Given the description of an element on the screen output the (x, y) to click on. 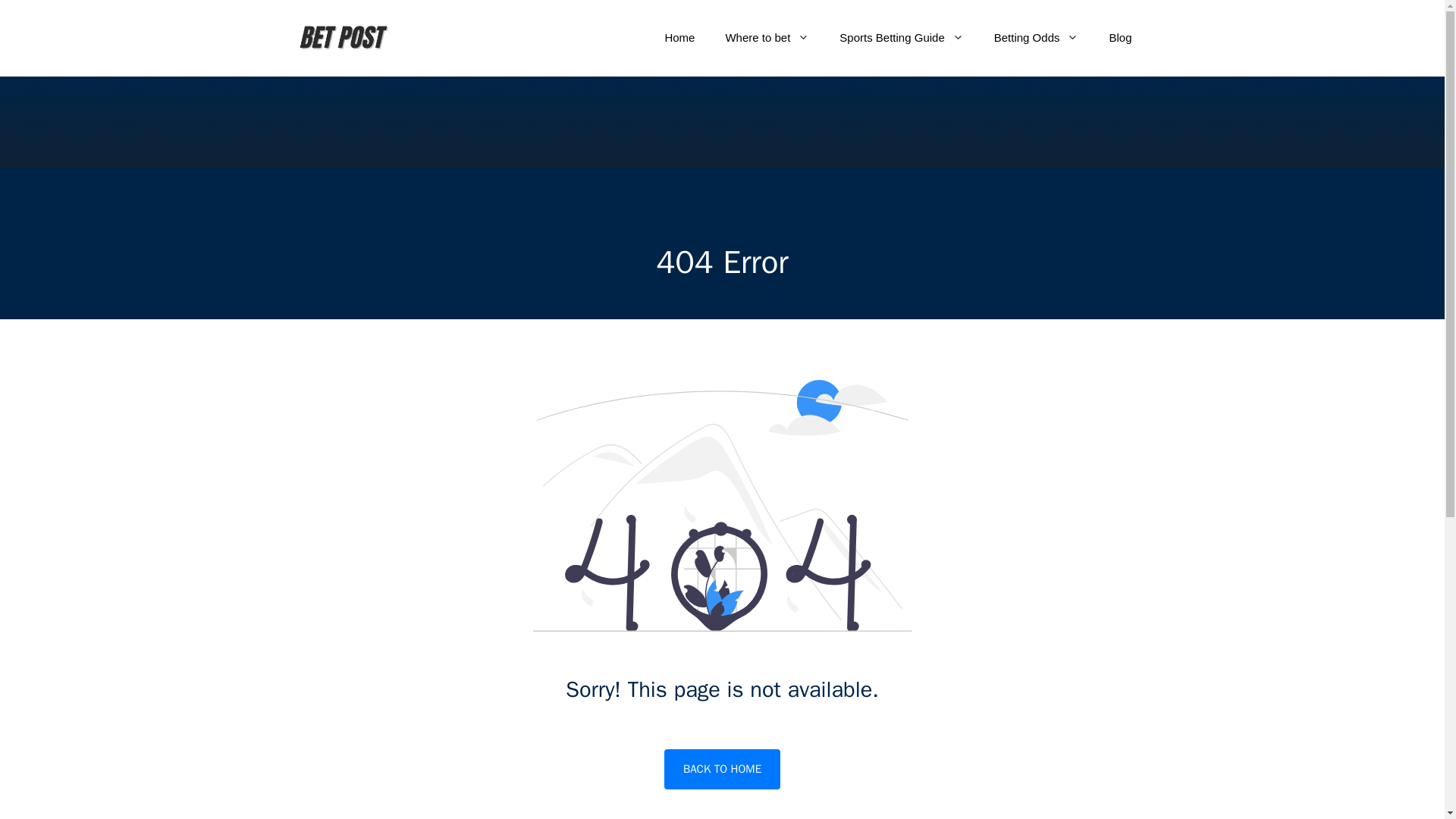
Where to bet (767, 37)
Sports Betting Guide (901, 37)
BACK TO HOME (721, 769)
Home (679, 37)
Blog (1120, 37)
Betting Odds (1036, 37)
